Given the description of an element on the screen output the (x, y) to click on. 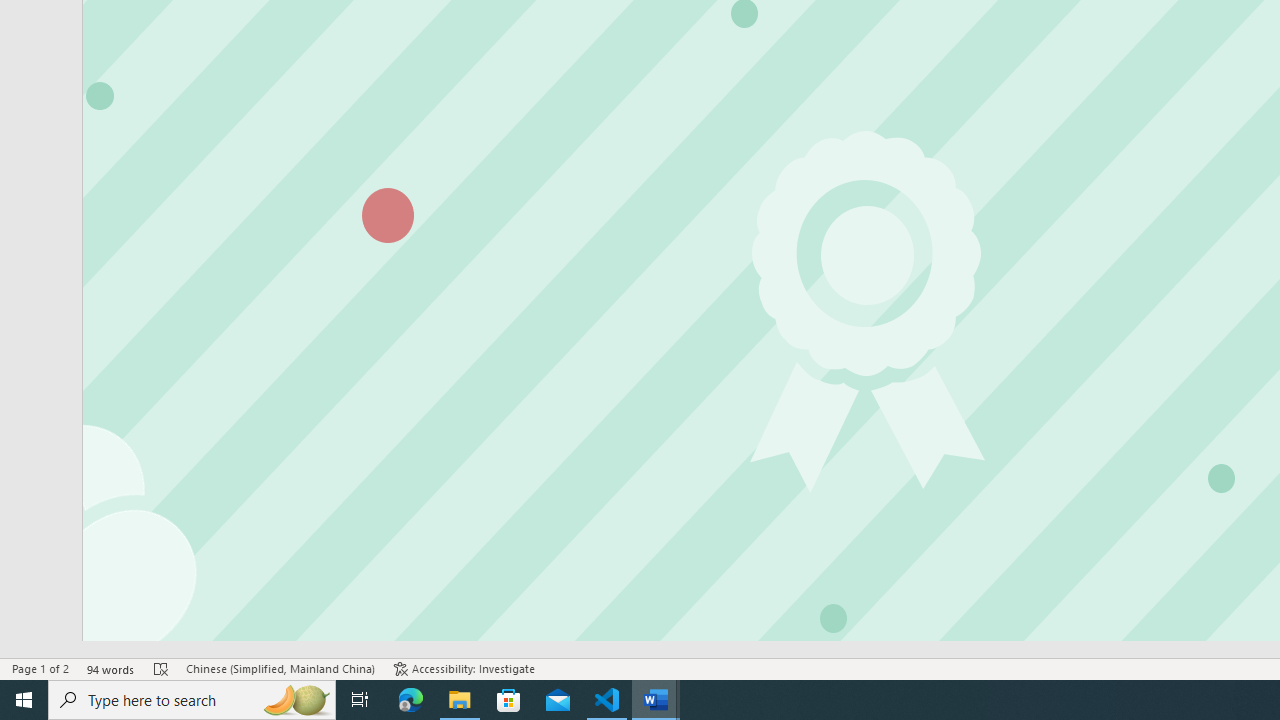
Page Number Page 1 of 2 (39, 668)
Word Count 94 words (111, 668)
Language Chinese (Simplified, Mainland China) (279, 668)
Accessibility Checker Accessibility: Investigate (464, 668)
Spelling and Grammar Check Errors (161, 668)
